Given the description of an element on the screen output the (x, y) to click on. 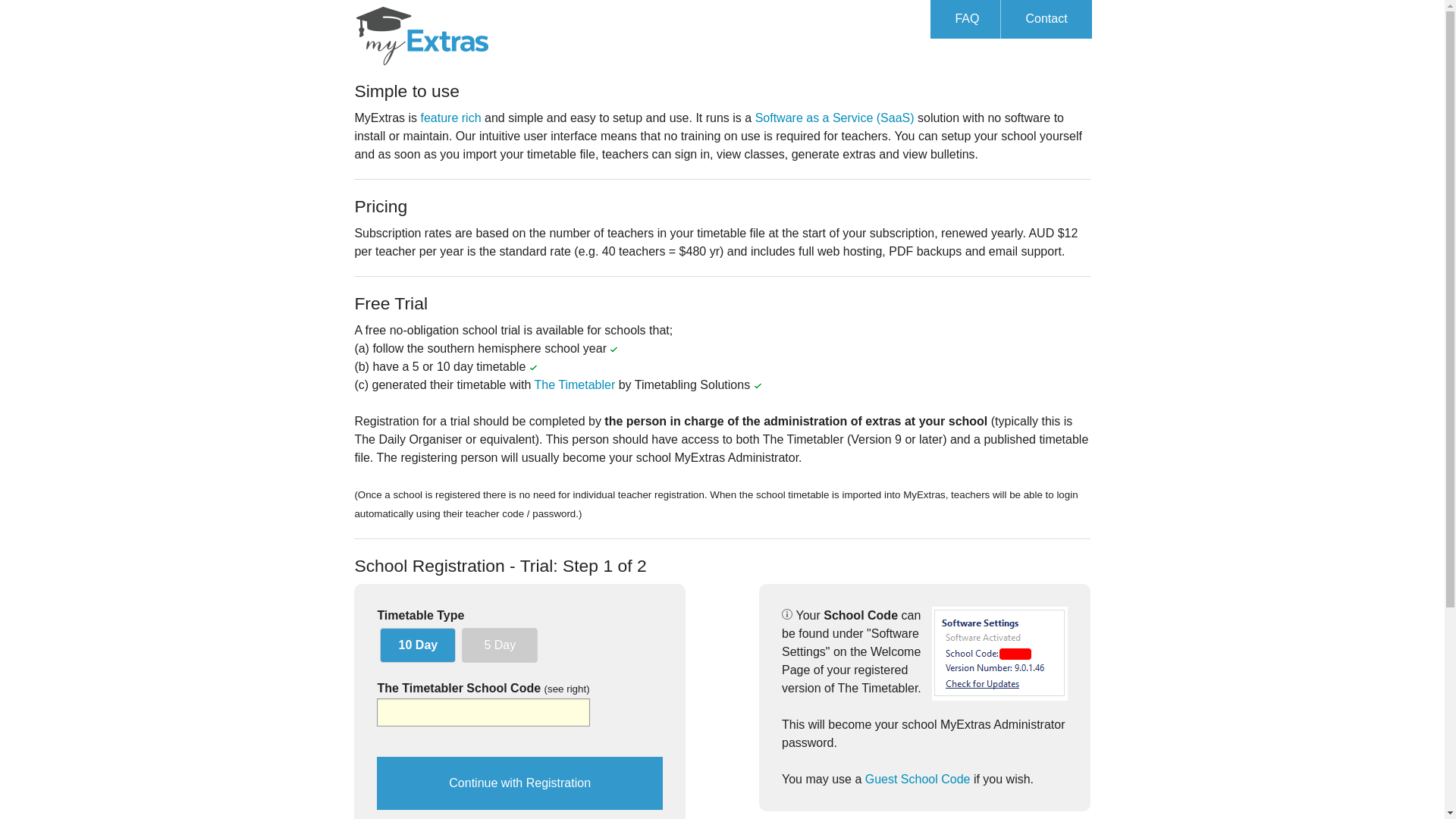
Info Element type: hover (786, 613)
feature rich Element type: text (450, 117)
The Timetabler Element type: text (574, 384)
Continue with Registration Element type: text (519, 782)
FAQ Element type: text (966, 19)
Software as a Service (SaaS) Element type: text (834, 117)
Contact Element type: text (1045, 19)
Guest School Code Element type: text (917, 778)
Go To MyExtras Homepage Element type: hover (422, 33)
